Given the description of an element on the screen output the (x, y) to click on. 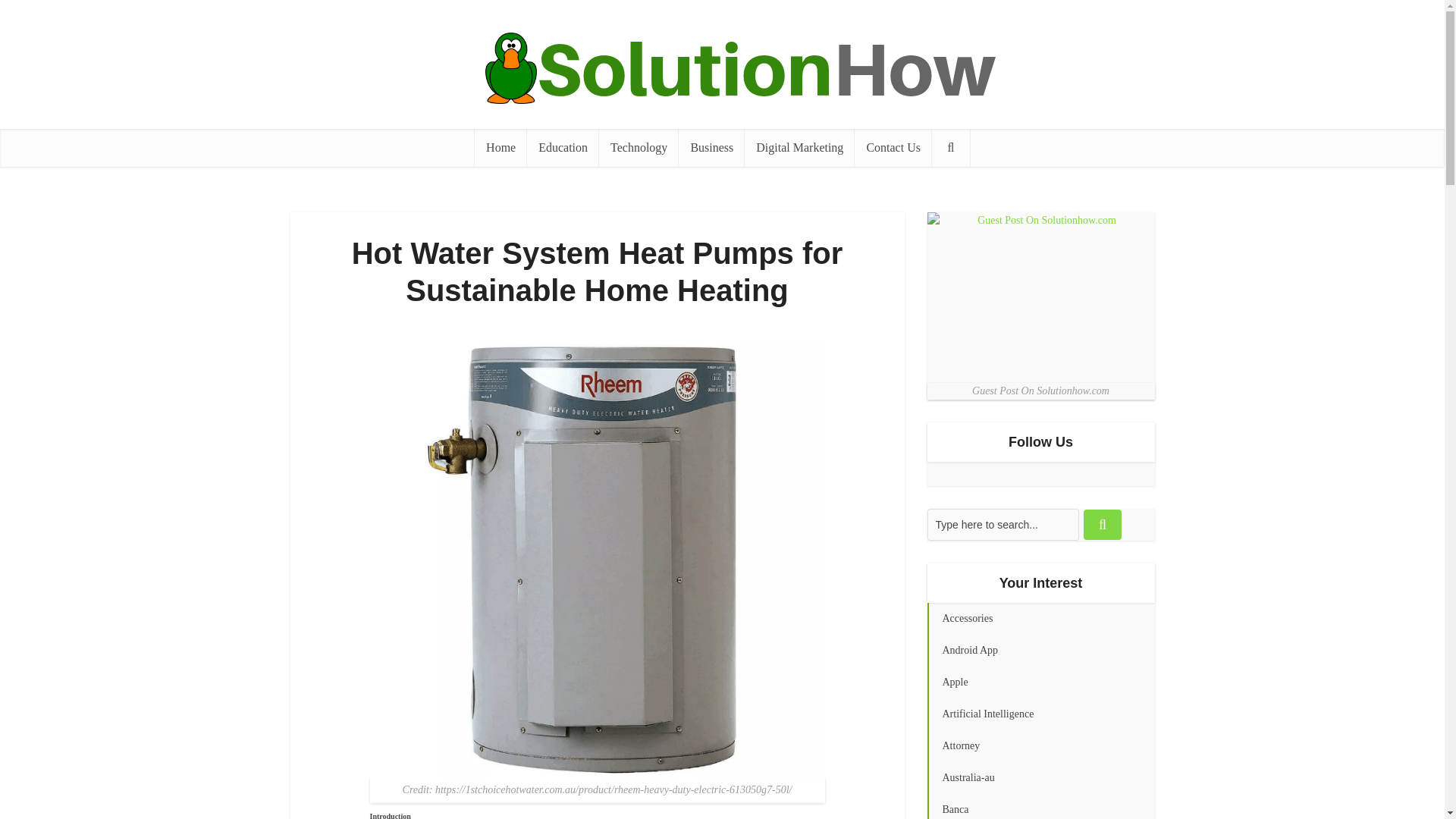
SolutionHow (721, 68)
Accessories (1040, 618)
Artificial Intelligence (1040, 714)
Home (500, 147)
Apple (1040, 682)
Type here to search... (1002, 524)
Banca (1040, 806)
Contact Us (892, 147)
Type here to search... (1002, 524)
Education (562, 147)
